Given the description of an element on the screen output the (x, y) to click on. 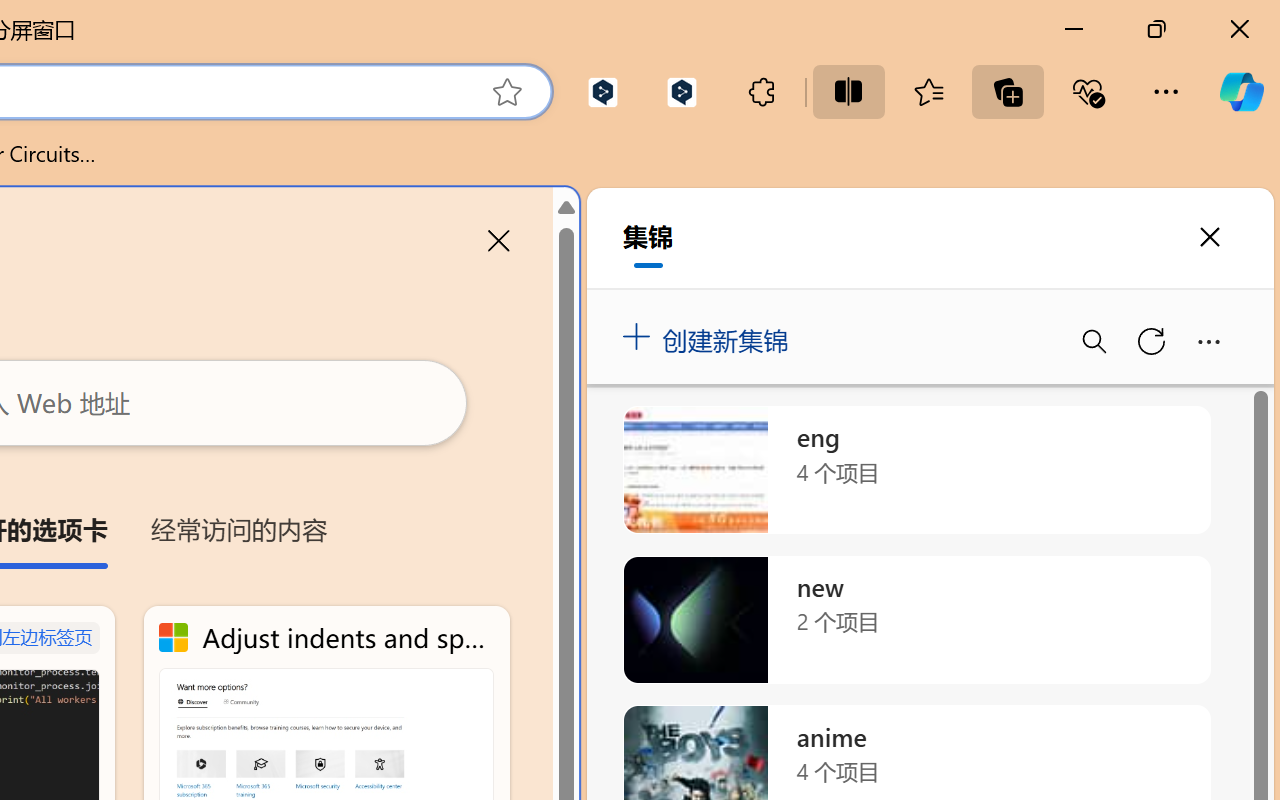
Copilot (Ctrl+Shift+.) (1241, 91)
